Given the description of an element on the screen output the (x, y) to click on. 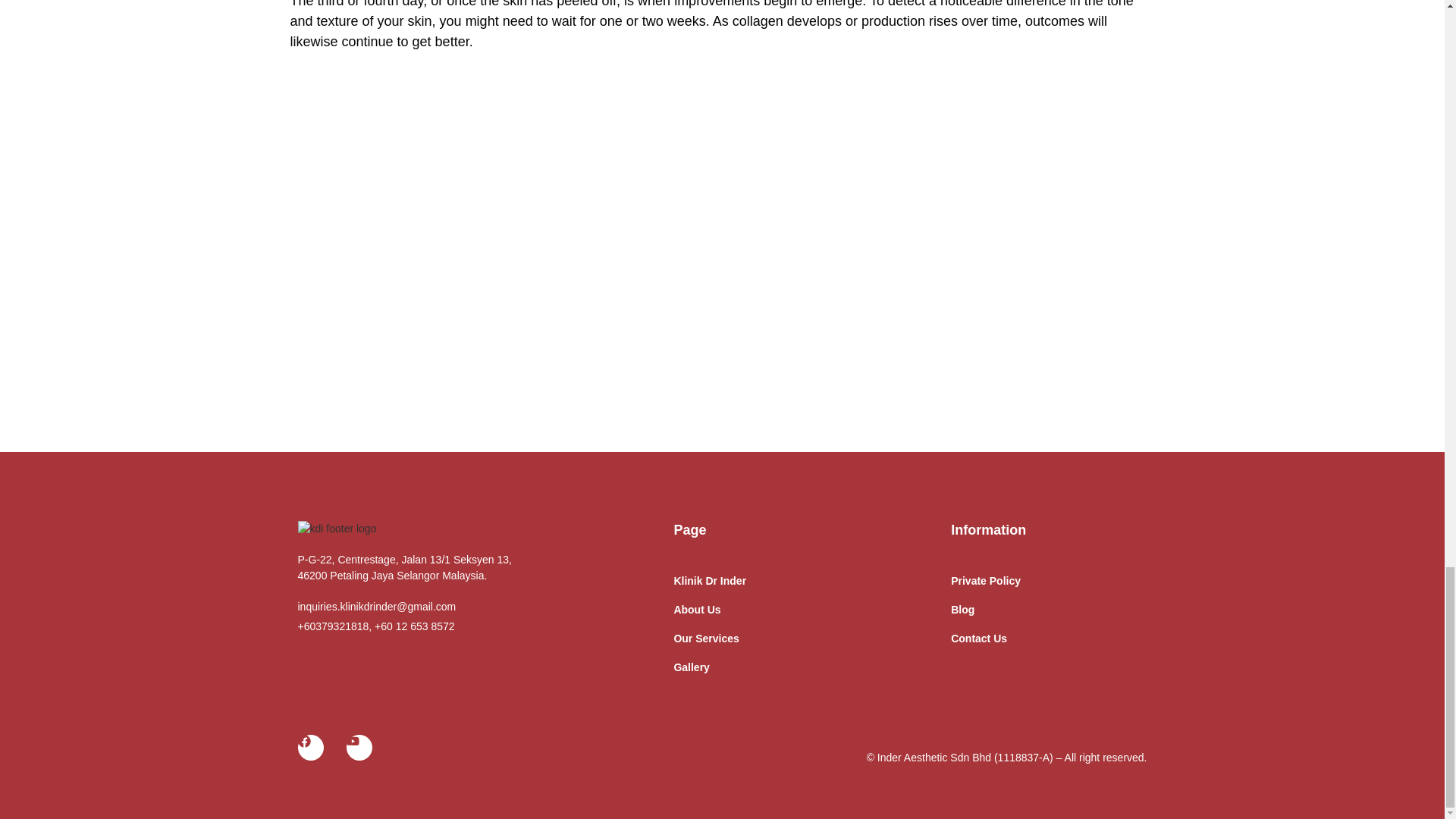
kdi footer logo (336, 528)
